Given the description of an element on the screen output the (x, y) to click on. 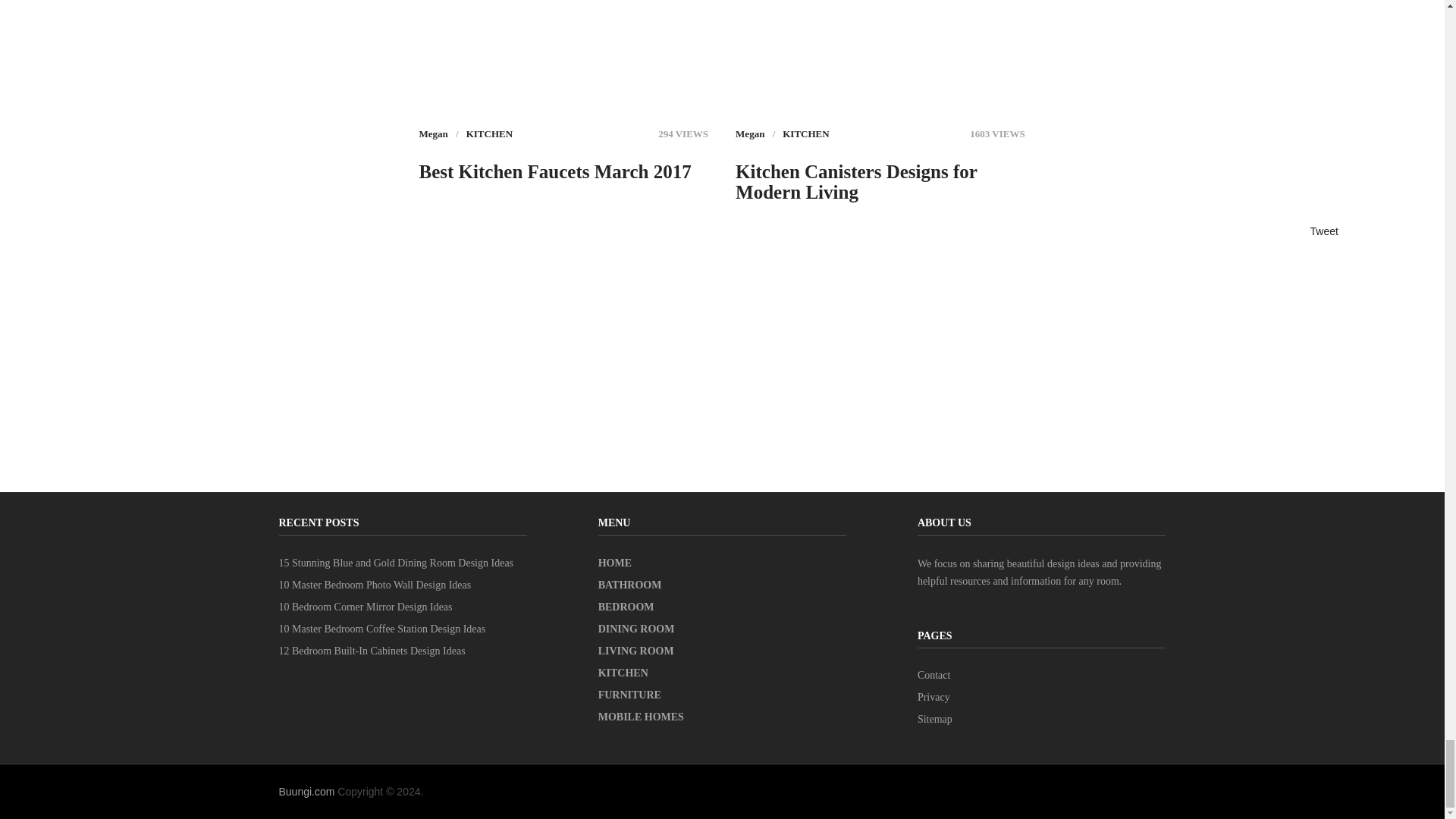
View all posts in Kitchen (488, 133)
KITCHEN (488, 133)
Kitchen Canisters Designs for Modern Living (880, 181)
Megan (749, 133)
10 Bedroom Corner Mirror Design Ideas (365, 606)
Best Kitchen Faucets March 2017 (554, 171)
Best Kitchen Faucets March 2017 (554, 171)
KITCHEN (805, 133)
Megan (432, 133)
15 Stunning Blue and Gold Dining Room Design Ideas (396, 562)
10 Master Bedroom Photo Wall Design Ideas (375, 584)
Posts by Megan (432, 133)
